Given the description of an element on the screen output the (x, y) to click on. 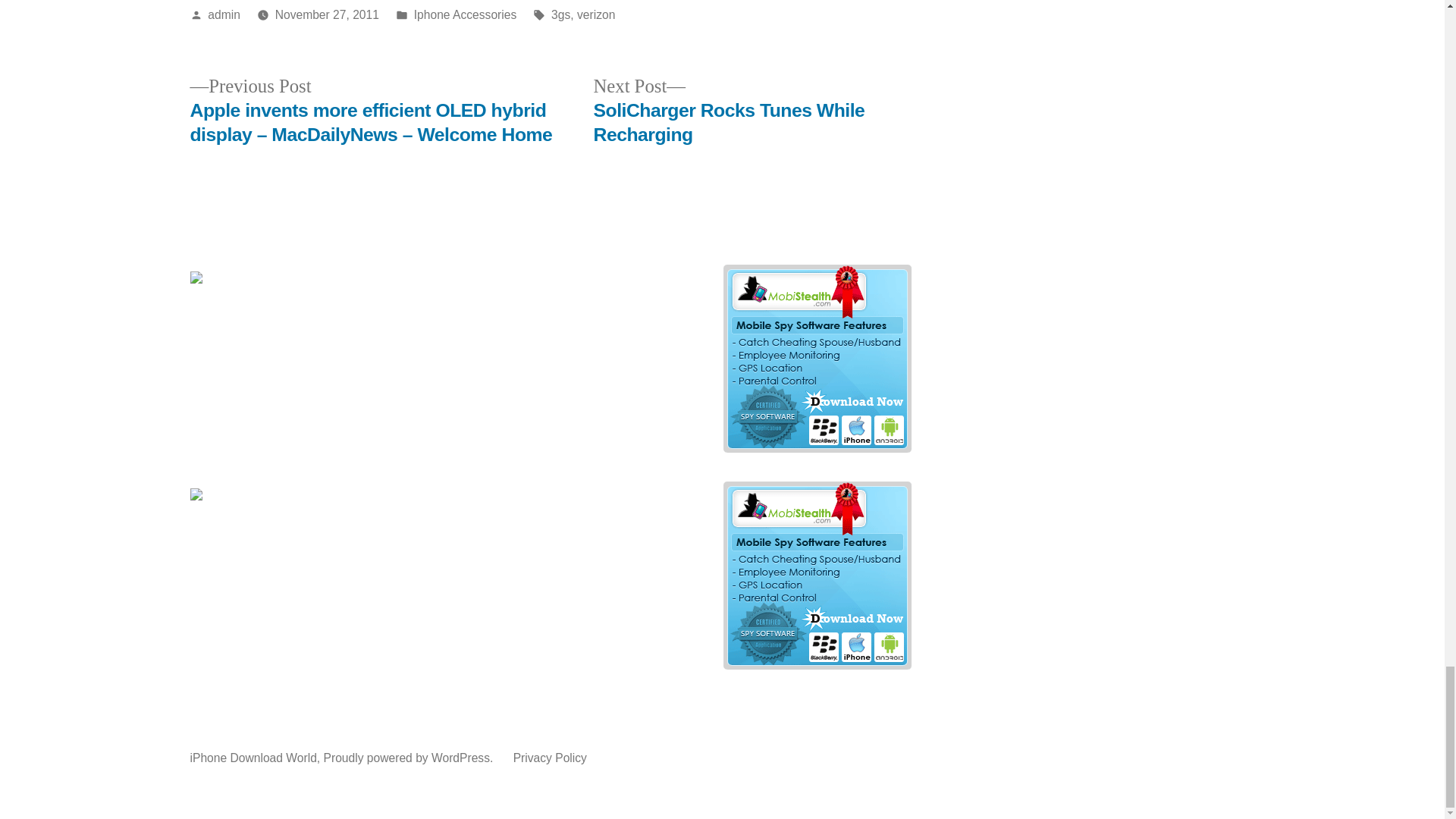
admin (224, 14)
Buy MobiStealth Spy Software for Android Phone (816, 664)
Iphone Accessories (464, 14)
November 27, 2011 (326, 14)
Buy MobiStealth Spy Software for Android Phone (816, 447)
verizon (595, 14)
Privacy Policy (549, 757)
Proudly powered by WordPress. (409, 757)
iPhone Download World (252, 757)
3gs (560, 14)
